Given the description of an element on the screen output the (x, y) to click on. 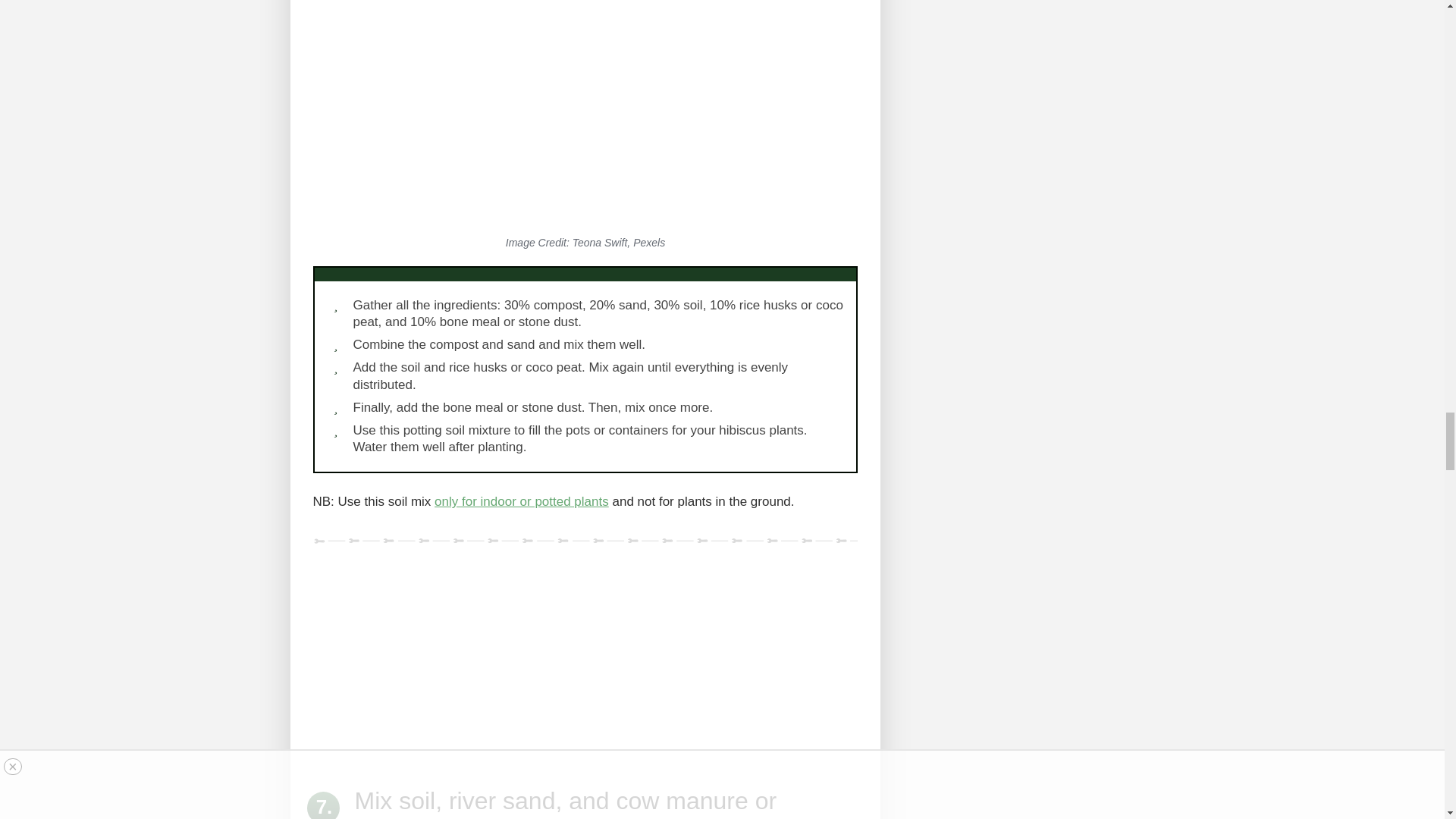
only for indoor or potted plants (520, 501)
